Given the description of an element on the screen output the (x, y) to click on. 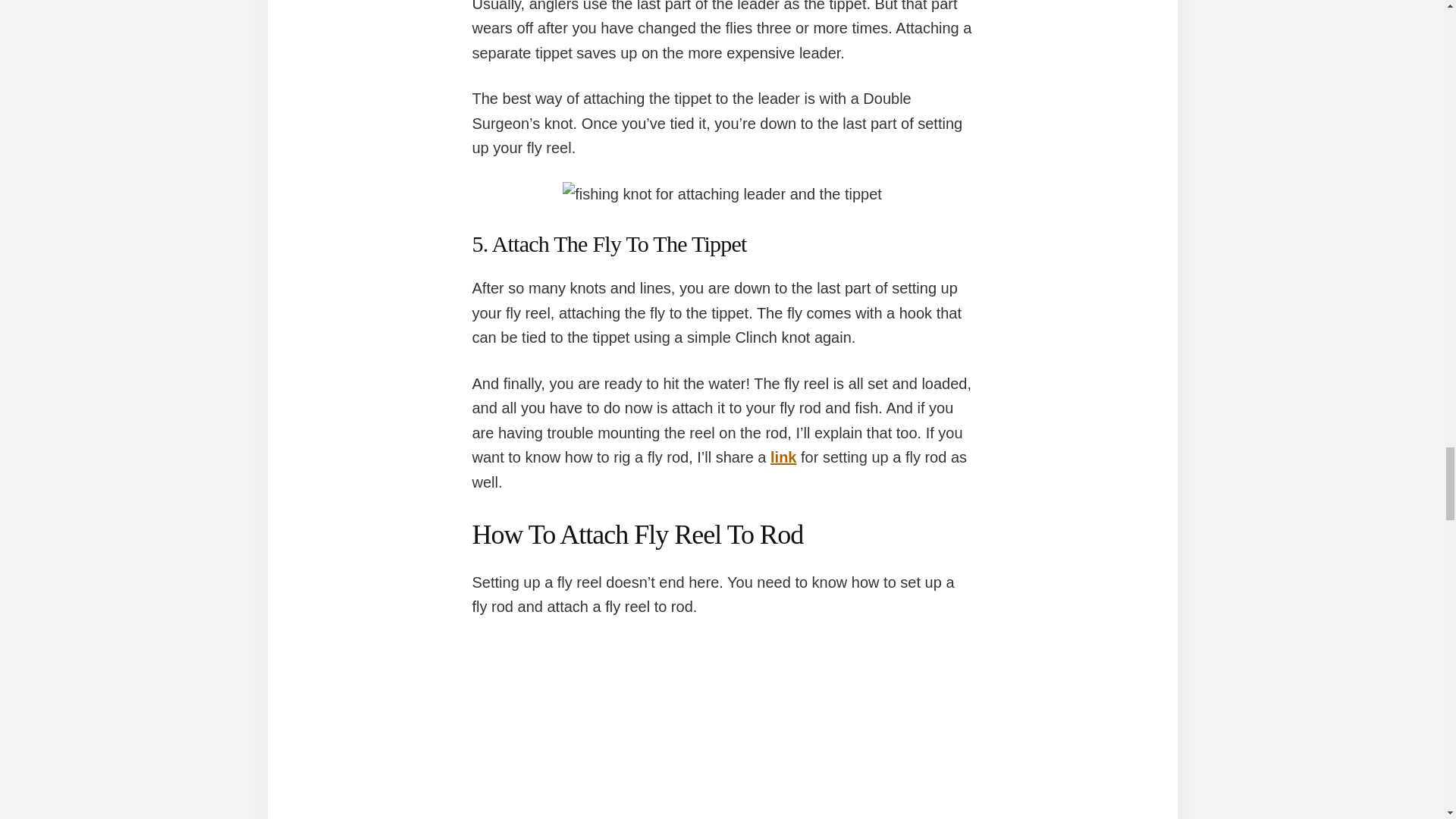
link (783, 457)
Mounting a Fly Reel on a Rod (721, 729)
